Given the description of an element on the screen output the (x, y) to click on. 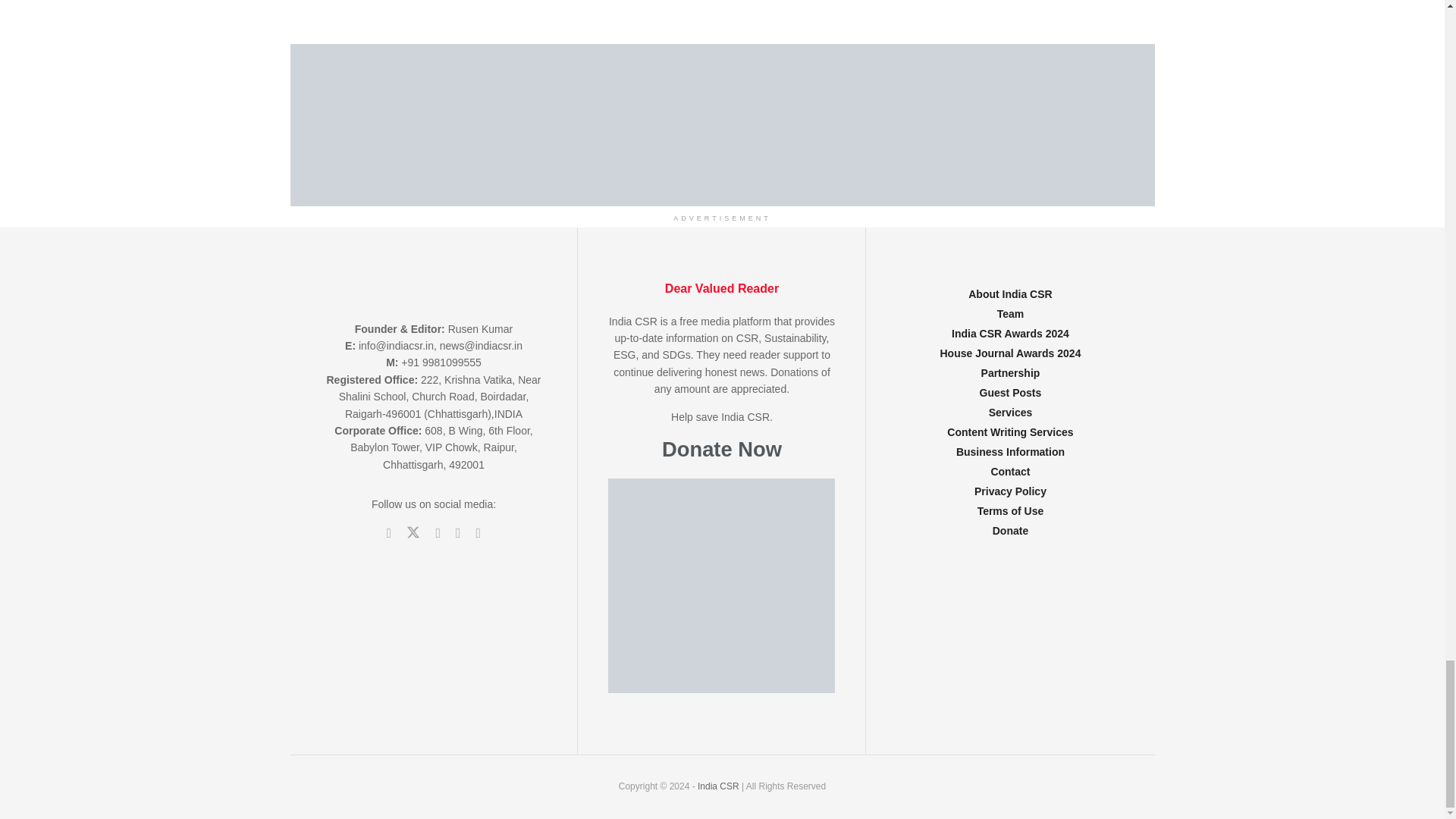
India CSR (719, 786)
